Given the description of an element on the screen output the (x, y) to click on. 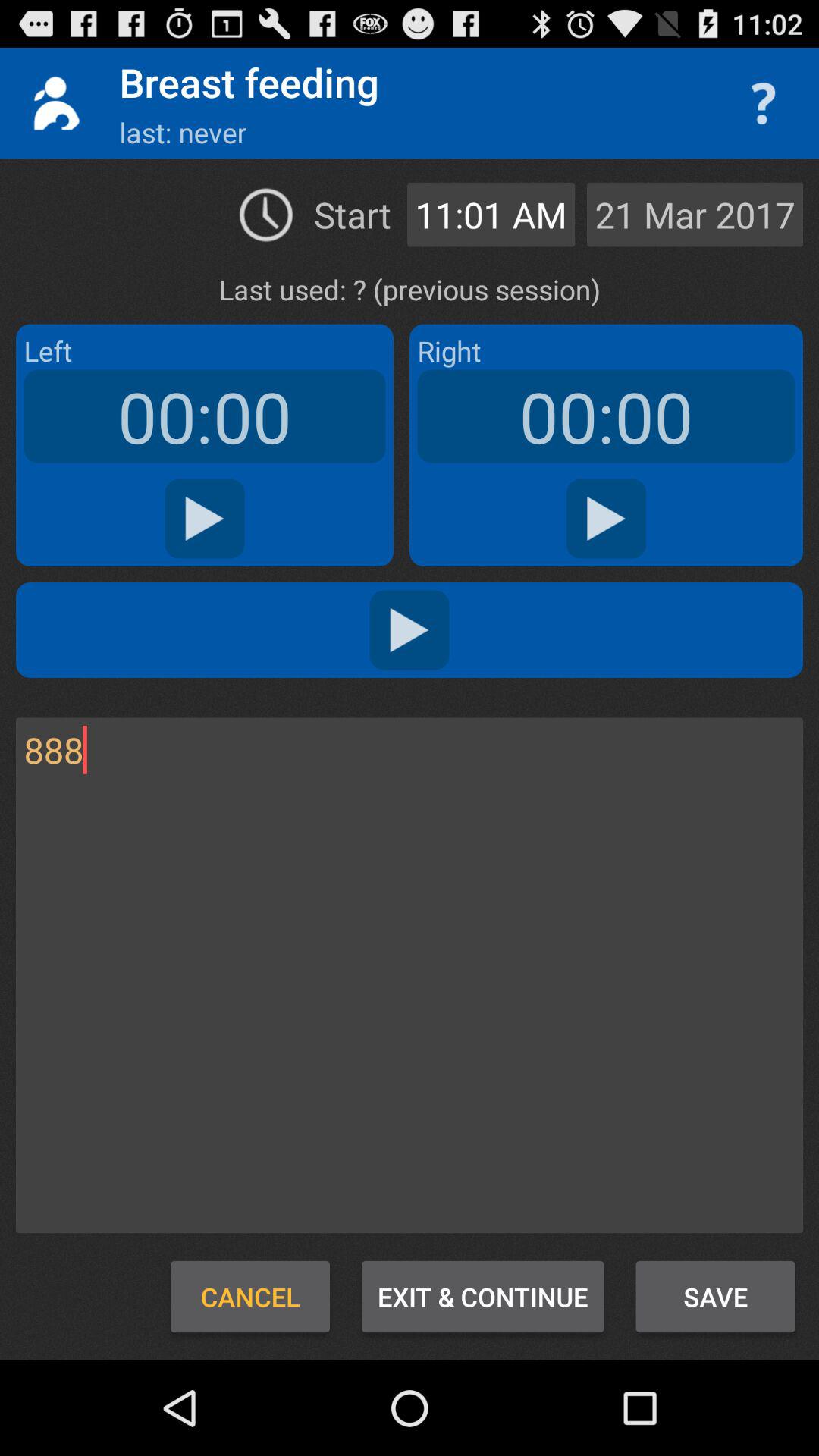
play (409, 629)
